Given the description of an element on the screen output the (x, y) to click on. 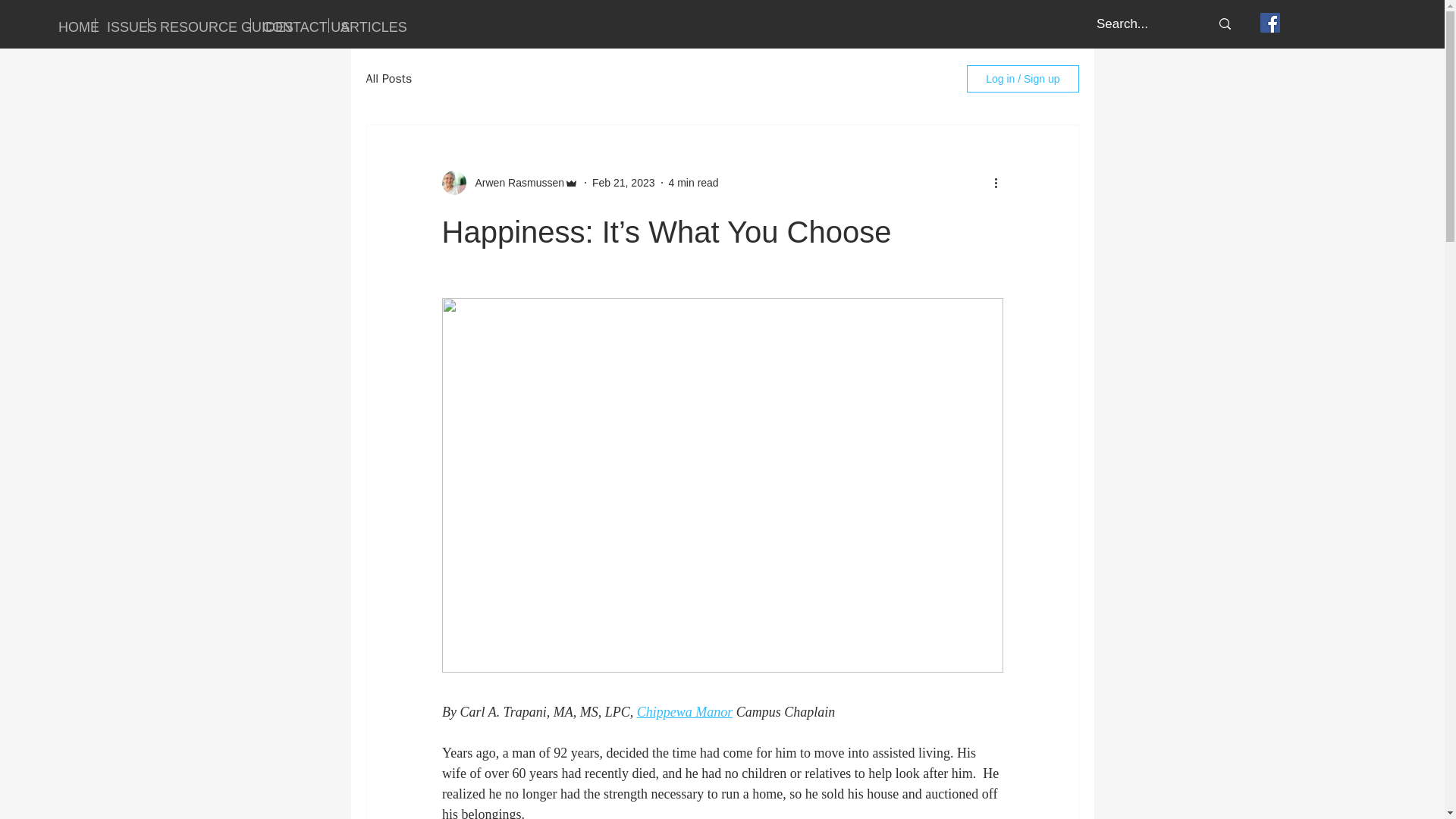
ARTICLES (361, 25)
Chippewa Manor (684, 711)
CONTACT US (289, 25)
ISSUES (122, 25)
Feb 21, 2023 (623, 182)
All Posts (388, 78)
HOME (70, 25)
4 min read (693, 182)
RESOURCE GUIDES (199, 25)
Arwen  Rasmussen (514, 182)
